Given the description of an element on the screen output the (x, y) to click on. 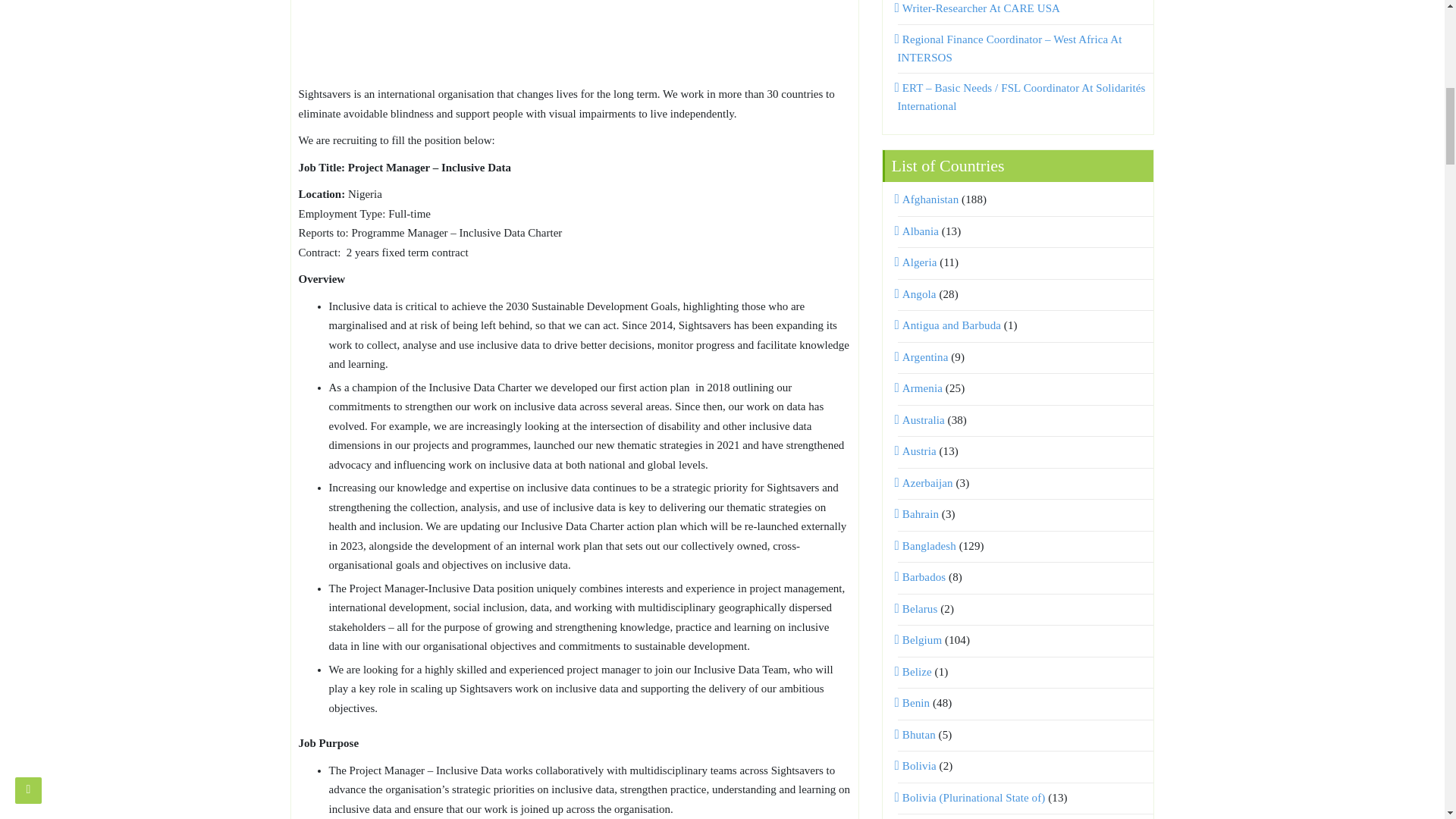
Albania (918, 231)
Antigua and Barbuda (949, 325)
Writer-Researcher At CARE USA (979, 8)
Angola (917, 294)
Afghanistan (928, 199)
Advertisement (574, 39)
Argentina (923, 357)
Algeria (917, 262)
